Given the description of an element on the screen output the (x, y) to click on. 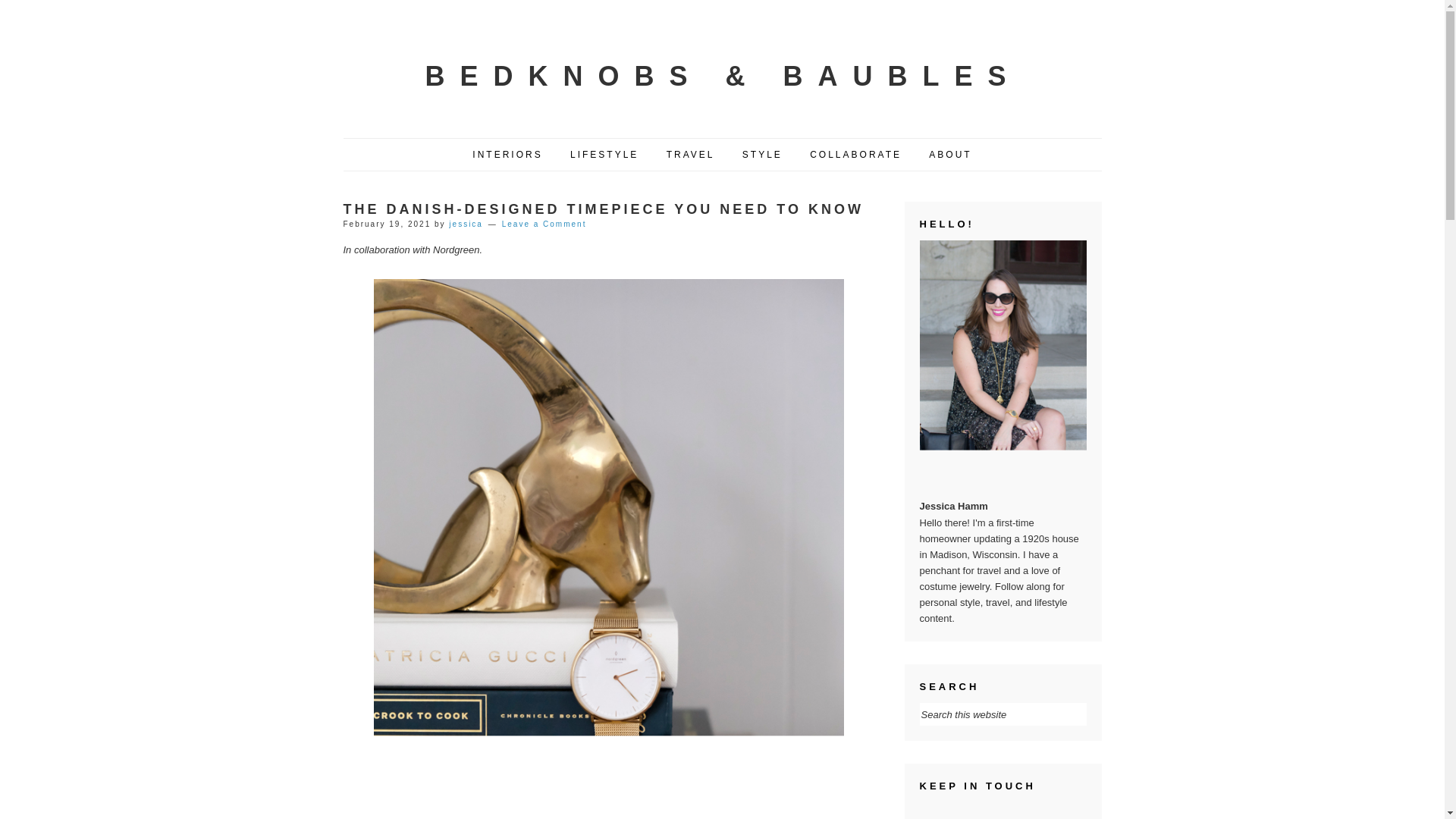
jessica (465, 224)
Leave a Comment (544, 224)
ABOUT (949, 154)
INTERIORS (507, 154)
COLLABORATE (854, 154)
TRAVEL (690, 154)
STYLE (761, 154)
LIFESTYLE (604, 154)
